Given the description of an element on the screen output the (x, y) to click on. 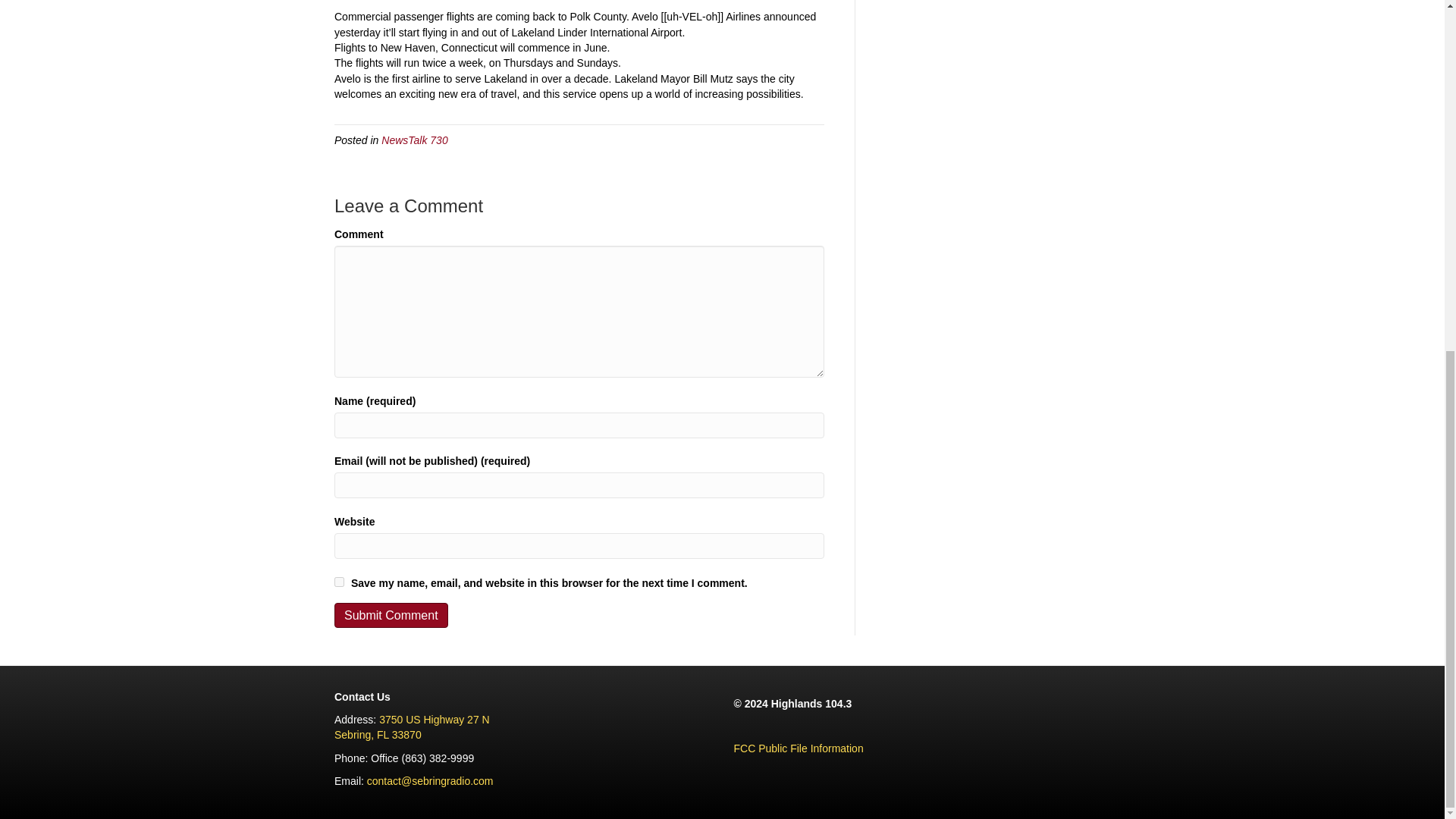
Submit Comment (391, 615)
FCC Pu (752, 748)
yes (338, 582)
Submit Comment (391, 615)
NewsTalk 730 (413, 140)
Likebox Iframe (411, 727)
